Given the description of an element on the screen output the (x, y) to click on. 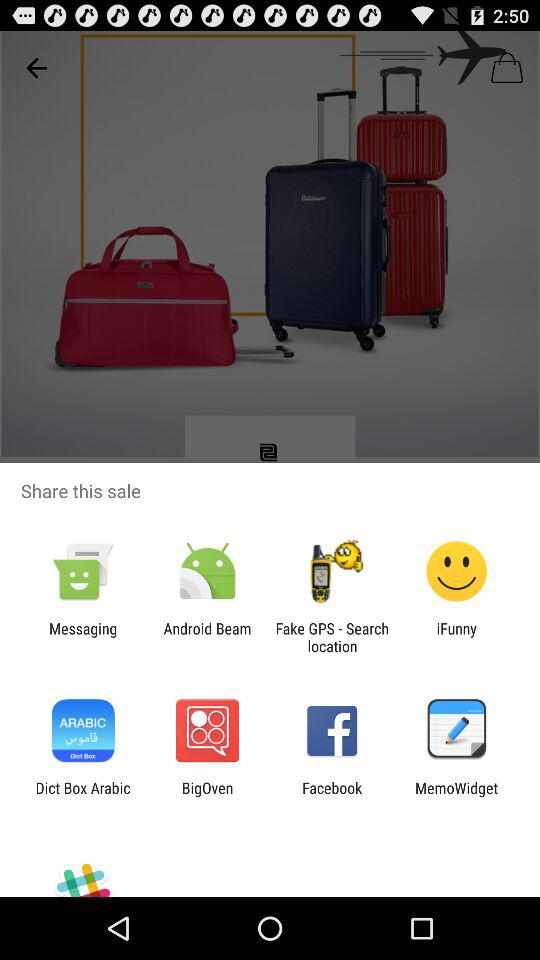
tap messaging icon (83, 637)
